Given the description of an element on the screen output the (x, y) to click on. 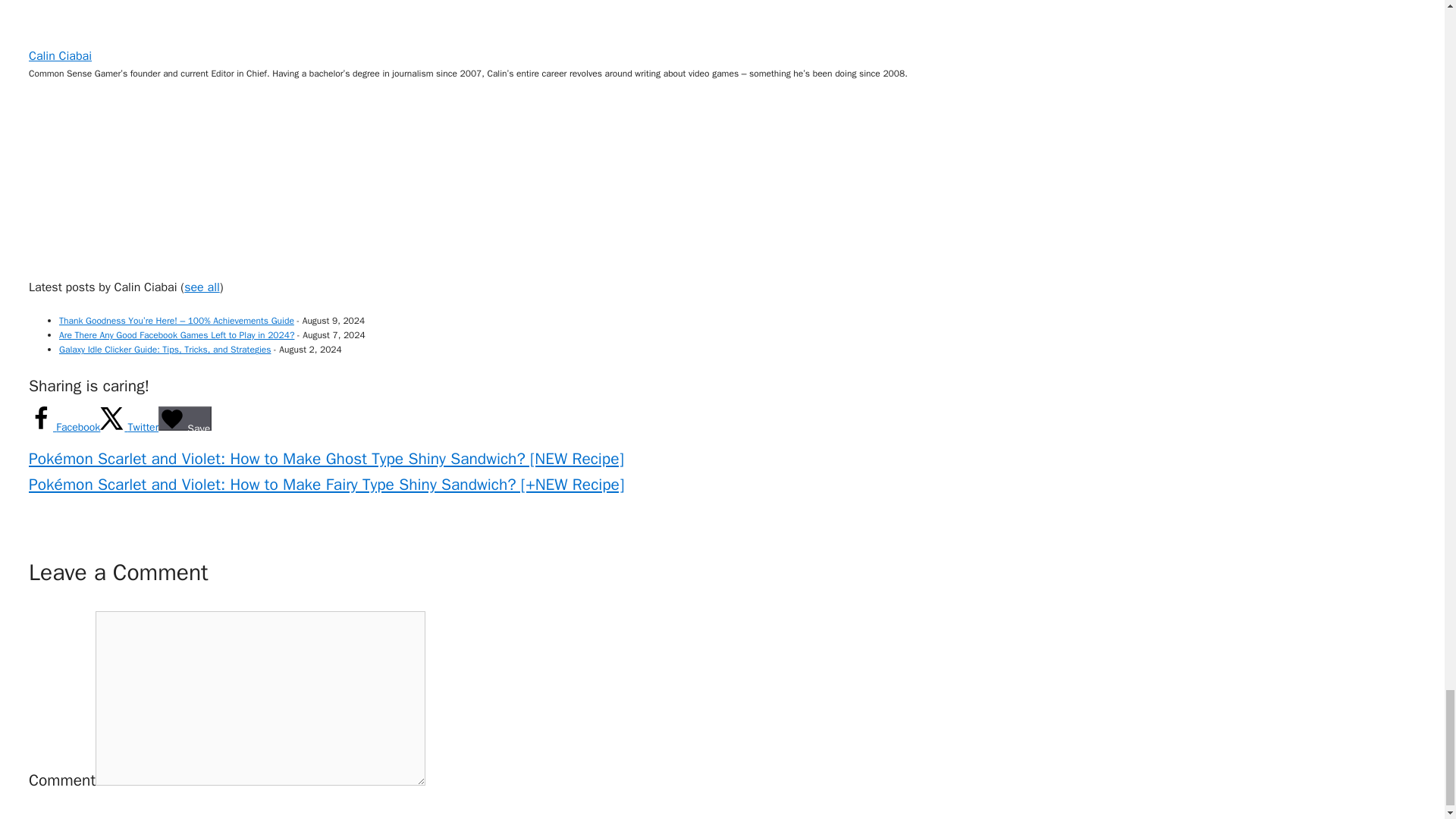
Calin Ciabai (123, 33)
Share on Facebook (64, 427)
Share on X (129, 427)
Calin Ciabai (123, 265)
Save on Grow.me (184, 418)
